Given the description of an element on the screen output the (x, y) to click on. 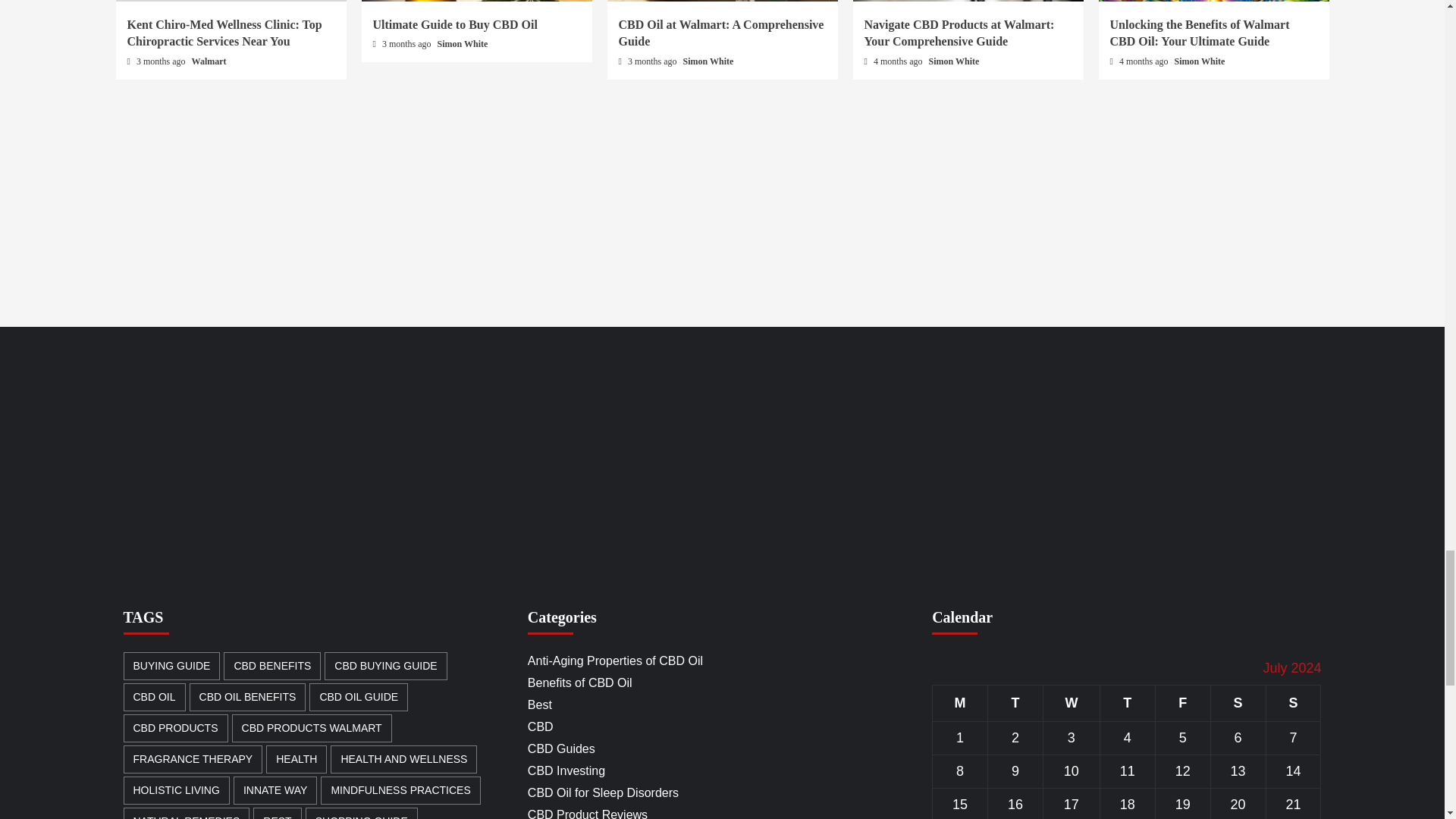
Sunday (1292, 703)
Thursday (1126, 703)
Friday (1181, 703)
Monday (960, 703)
Saturday (1237, 703)
Tuesday (1015, 703)
Wednesday (1070, 703)
